Given the description of an element on the screen output the (x, y) to click on. 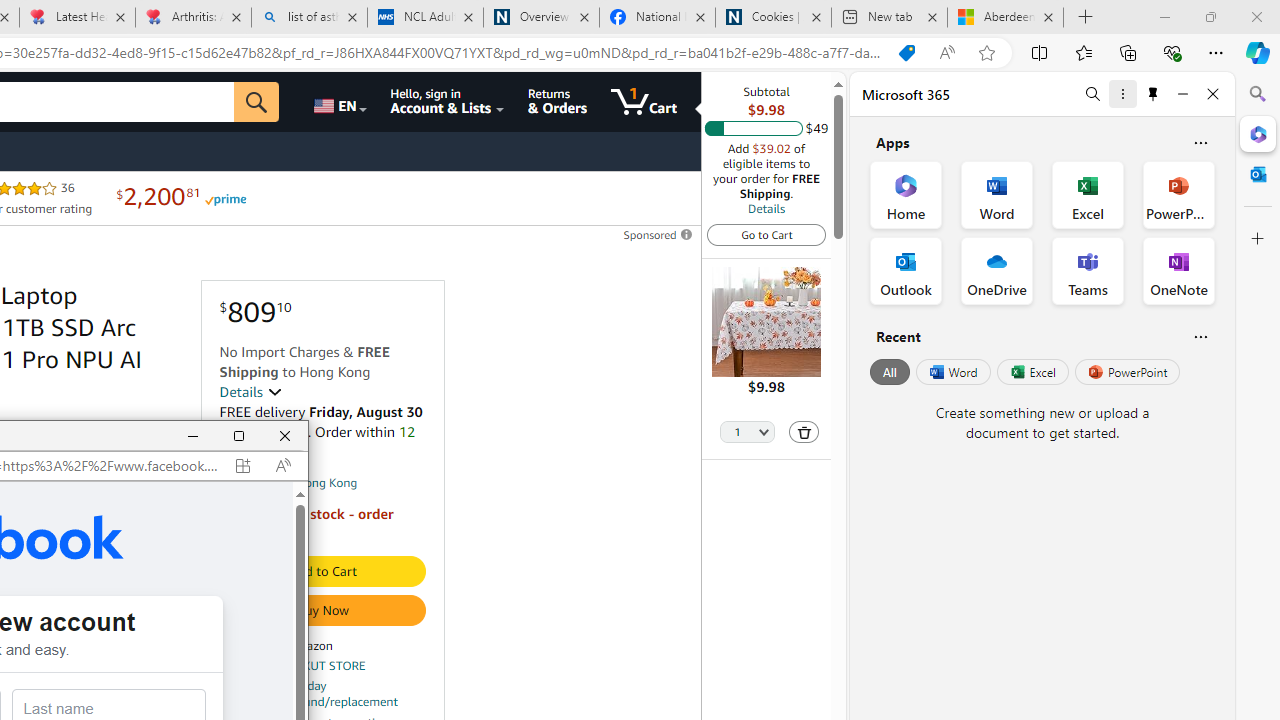
Go to Cart (766, 234)
1 item in cart (643, 101)
Word (952, 372)
Excel (1031, 372)
Details (765, 208)
Delete (804, 431)
